Given the description of an element on the screen output the (x, y) to click on. 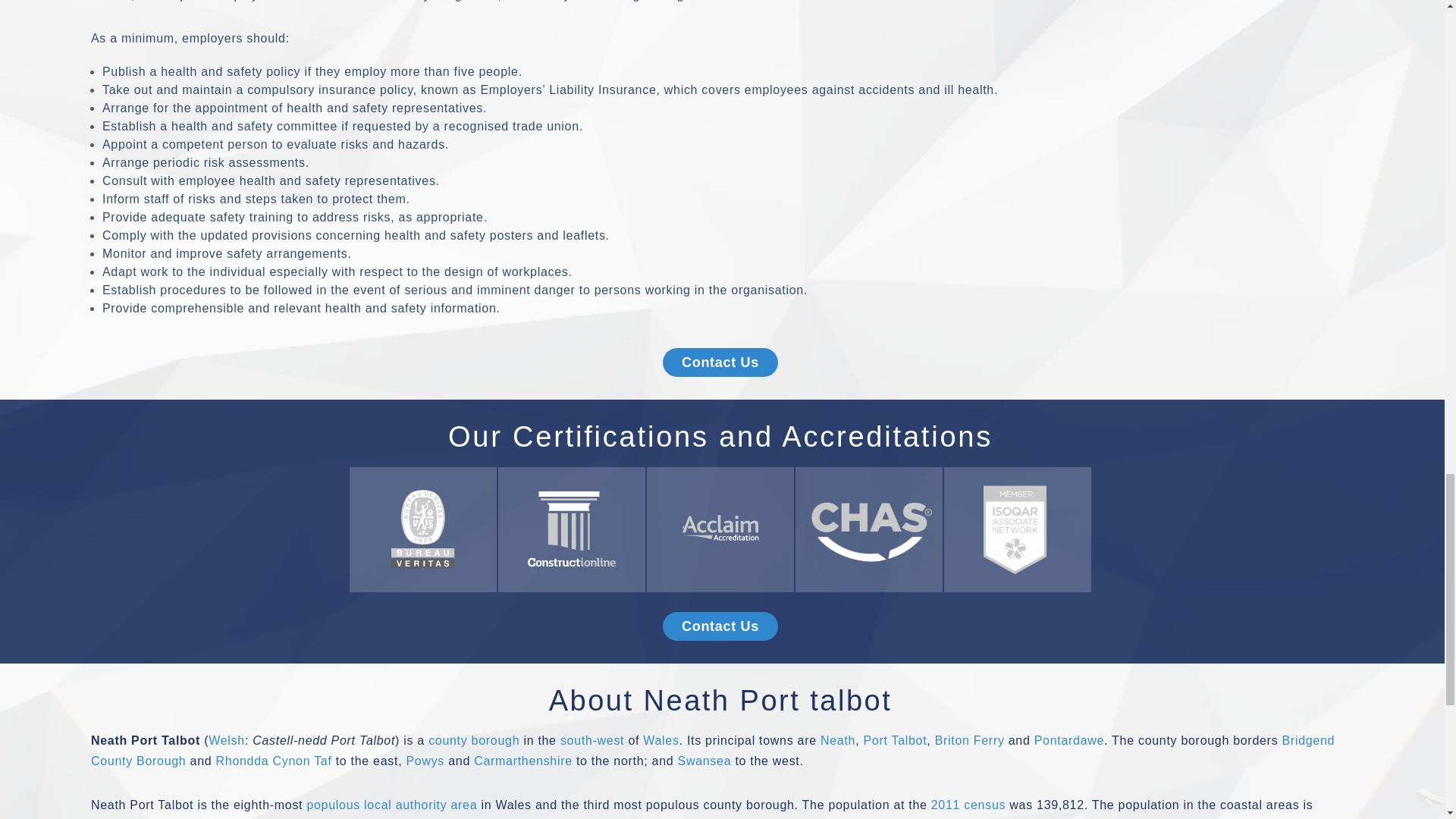
Powys (425, 760)
Carmarthenshire (523, 760)
Pontardawe (1068, 739)
Neath (838, 739)
Welsh language (226, 739)
Briton Ferry (969, 739)
South West Wales (592, 739)
Rhondda Cynon Taf (273, 760)
Bridgend County Borough (712, 750)
Local government in Wales (473, 739)
